Given the description of an element on the screen output the (x, y) to click on. 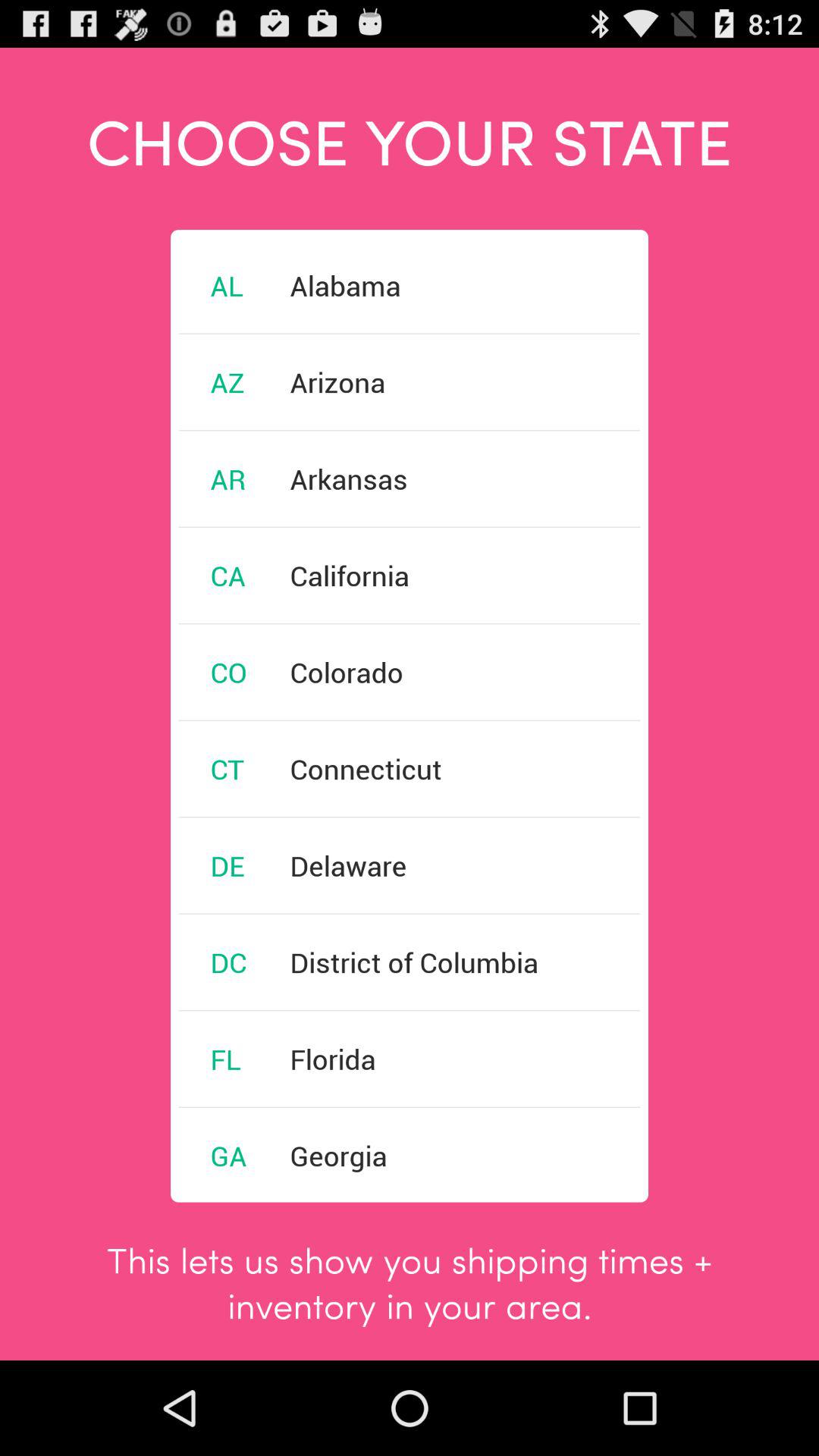
turn off the icon above the az (226, 285)
